Given the description of an element on the screen output the (x, y) to click on. 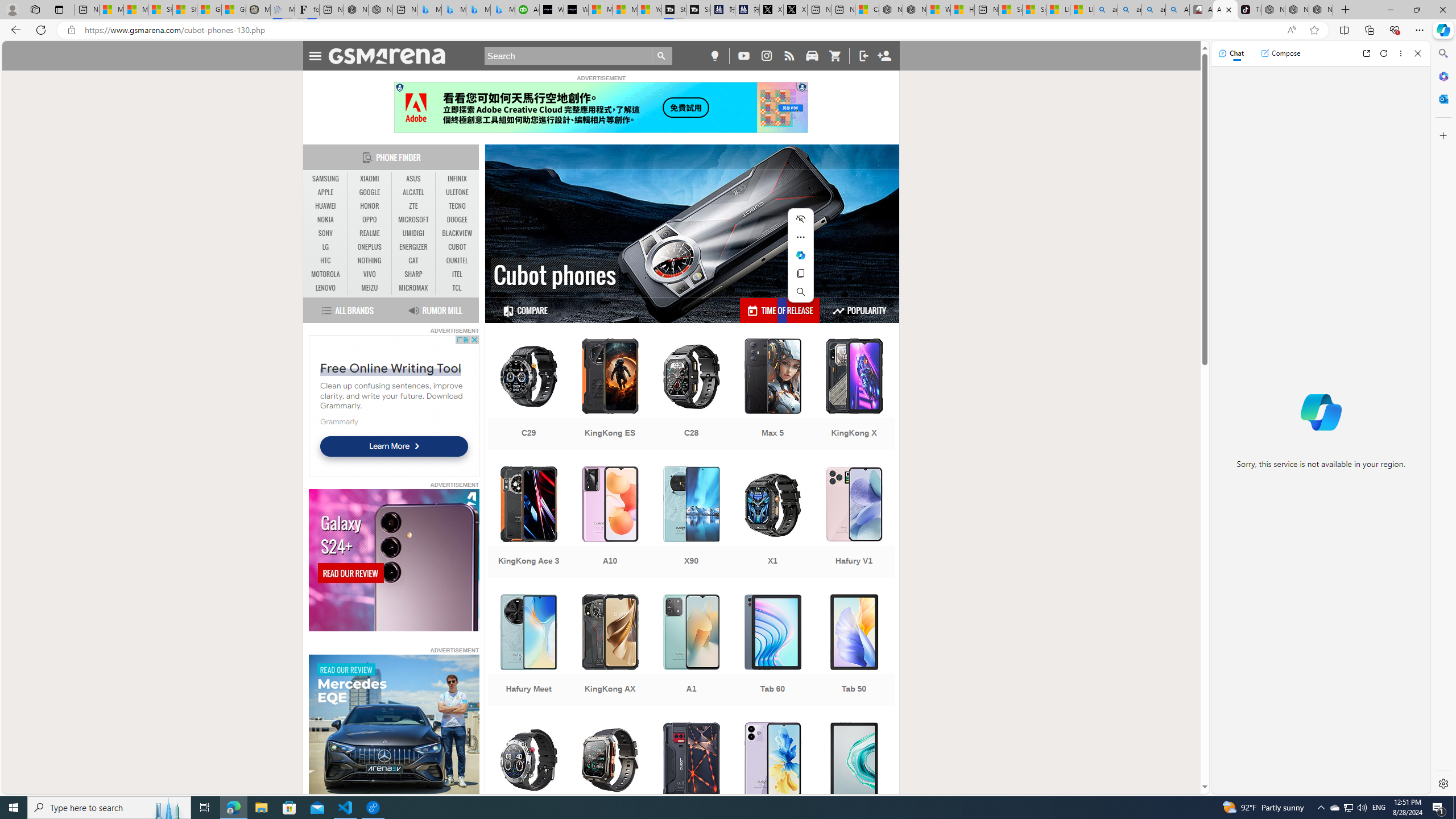
MICROSOFT (413, 219)
SONY (325, 233)
Privacy Notification (400, 86)
ULEFONE (457, 192)
C29 (528, 395)
Learn More (393, 446)
Settings (1442, 783)
HTC (325, 260)
DOOGEE (457, 219)
Tab 50 (853, 651)
